Given the description of an element on the screen output the (x, y) to click on. 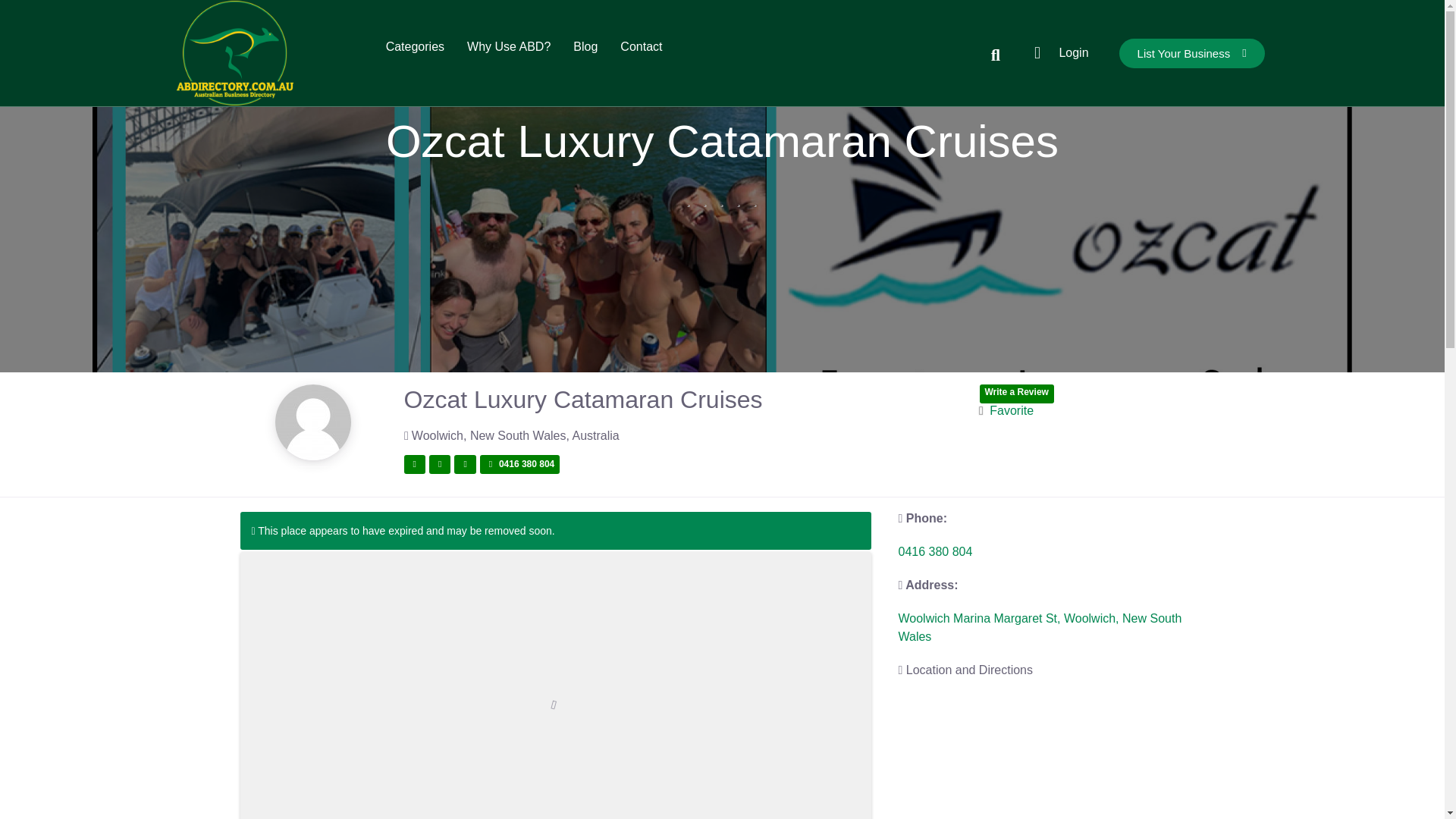
Categories (414, 46)
Website (465, 464)
Write a Review (1016, 393)
Why Use ABD? (508, 46)
Blog (584, 46)
0416 380 804 (519, 464)
No rating yet! (722, 199)
Add to Favorites (1005, 410)
Instagram (439, 464)
Contact (641, 46)
Facebook (414, 464)
